Given the description of an element on the screen output the (x, y) to click on. 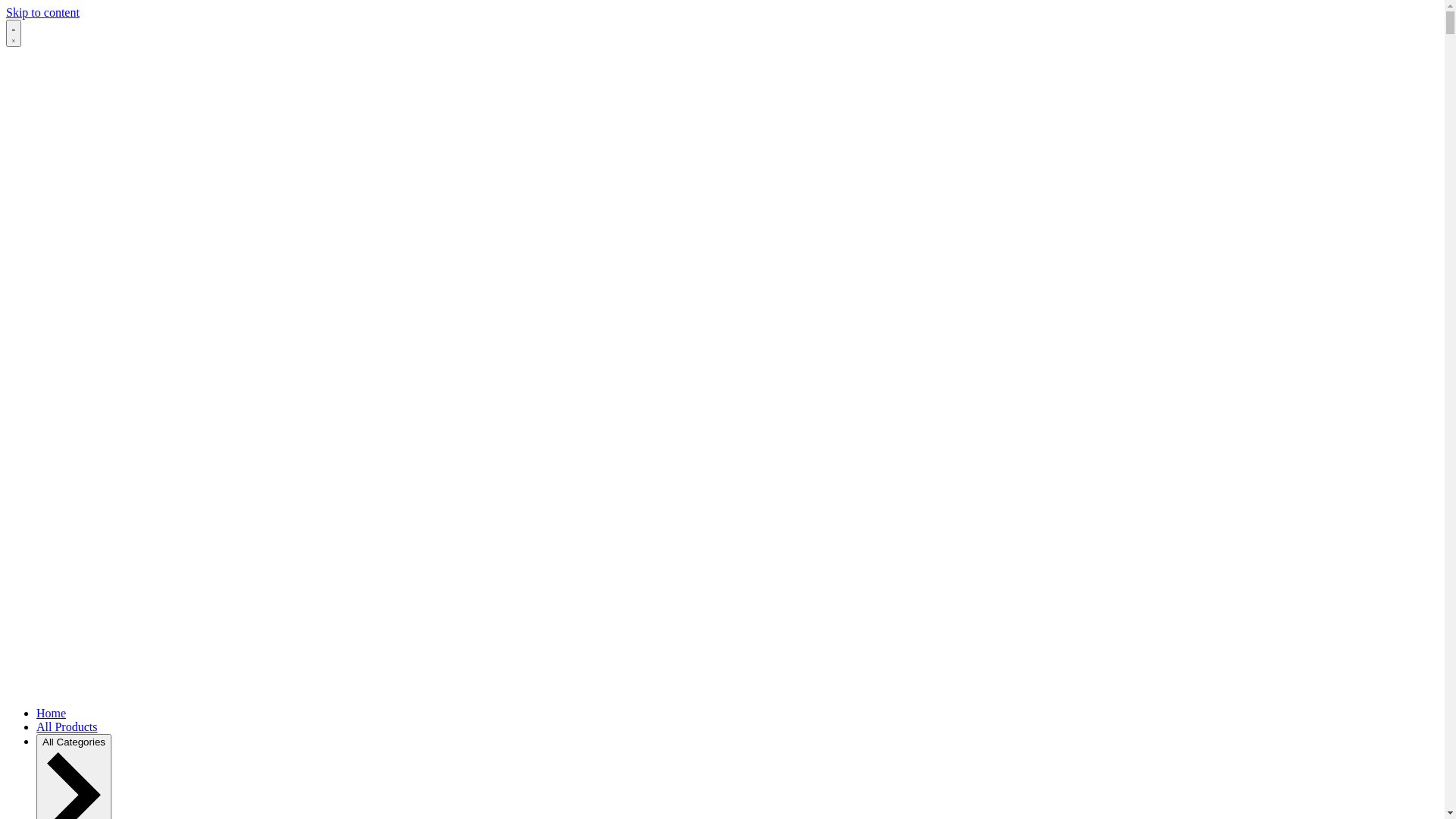
Skip to content Element type: text (42, 12)
All Products Element type: text (66, 726)
Home Element type: text (50, 712)
